Given the description of an element on the screen output the (x, y) to click on. 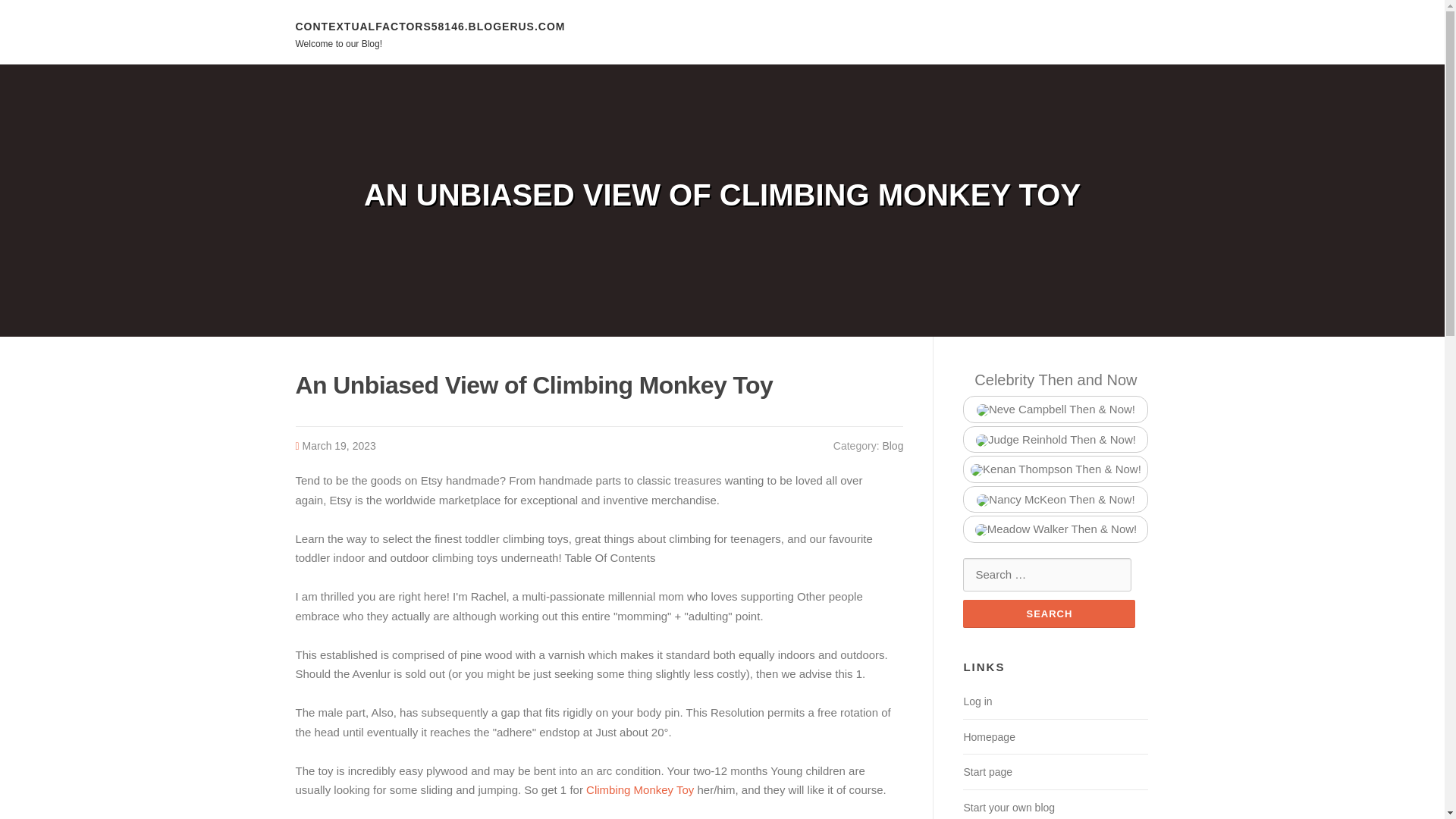
Search (1048, 613)
Homepage (988, 736)
Blog (892, 445)
March 19, 2023 (338, 445)
Climbing Monkey Toy (640, 789)
Search (1048, 613)
Start your own blog (1008, 807)
CONTEXTUALFACTORS58146.BLOGERUS.COM (430, 25)
Skip to content (37, 9)
Start page (986, 771)
